Given the description of an element on the screen output the (x, y) to click on. 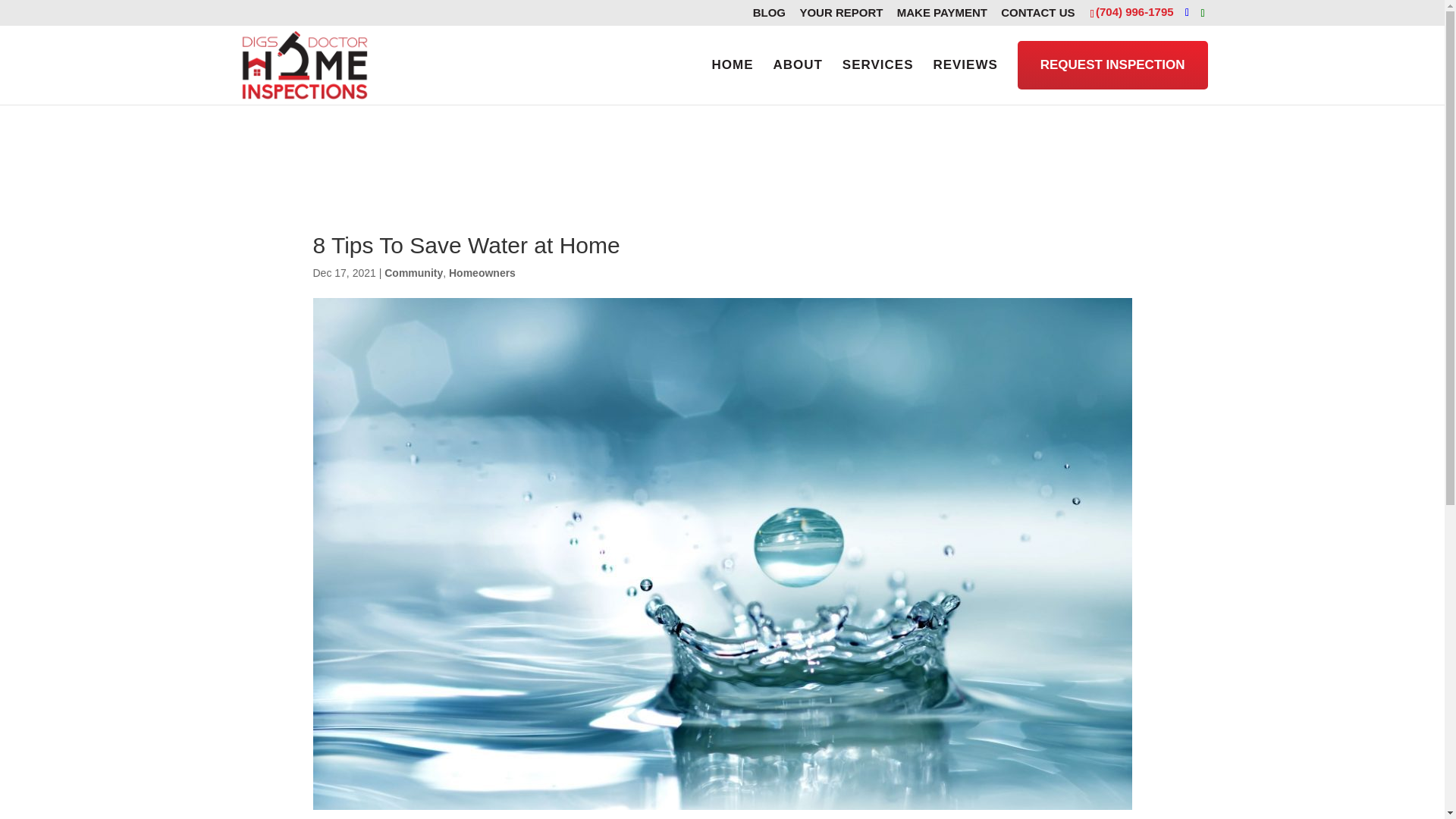
HOME (732, 64)
CONTACT US (1037, 15)
YOUR REPORT (840, 15)
SERVICES (878, 64)
REQUEST INSPECTION (1112, 64)
MAKE PAYMENT (941, 15)
ABOUT (797, 64)
BLOG (769, 15)
Community (413, 272)
REVIEWS (965, 64)
Homeowners (481, 272)
